Given the description of an element on the screen output the (x, y) to click on. 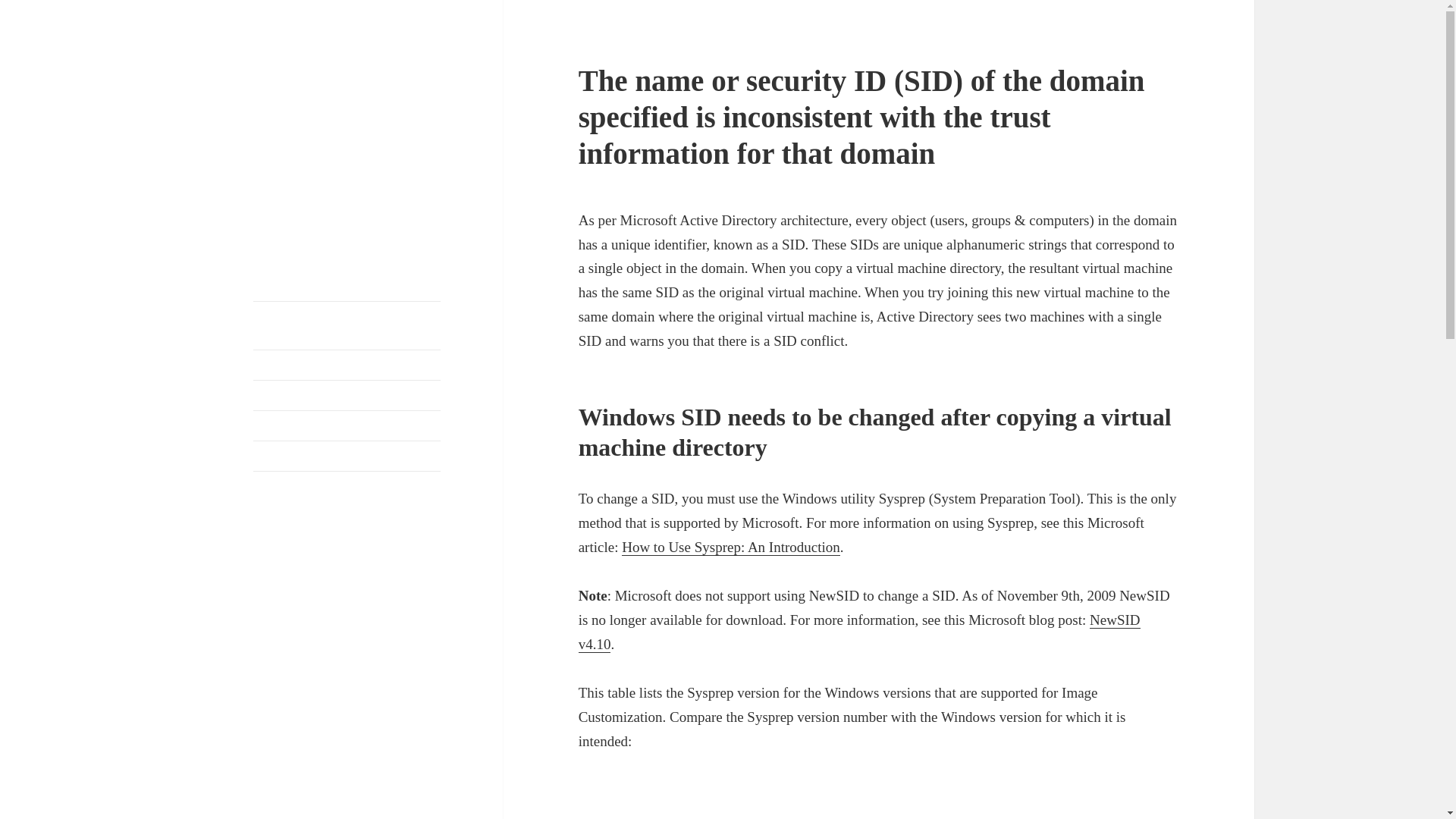
How to Use Sysprep: An Introduction (730, 547)
KVM hypervisor (294, 485)
Python (269, 394)
Linux shell (280, 454)
NewSID v4.10 (859, 631)
Web-developer and sysadmin notes (325, 99)
Ubuntu (271, 424)
